Given the description of an element on the screen output the (x, y) to click on. 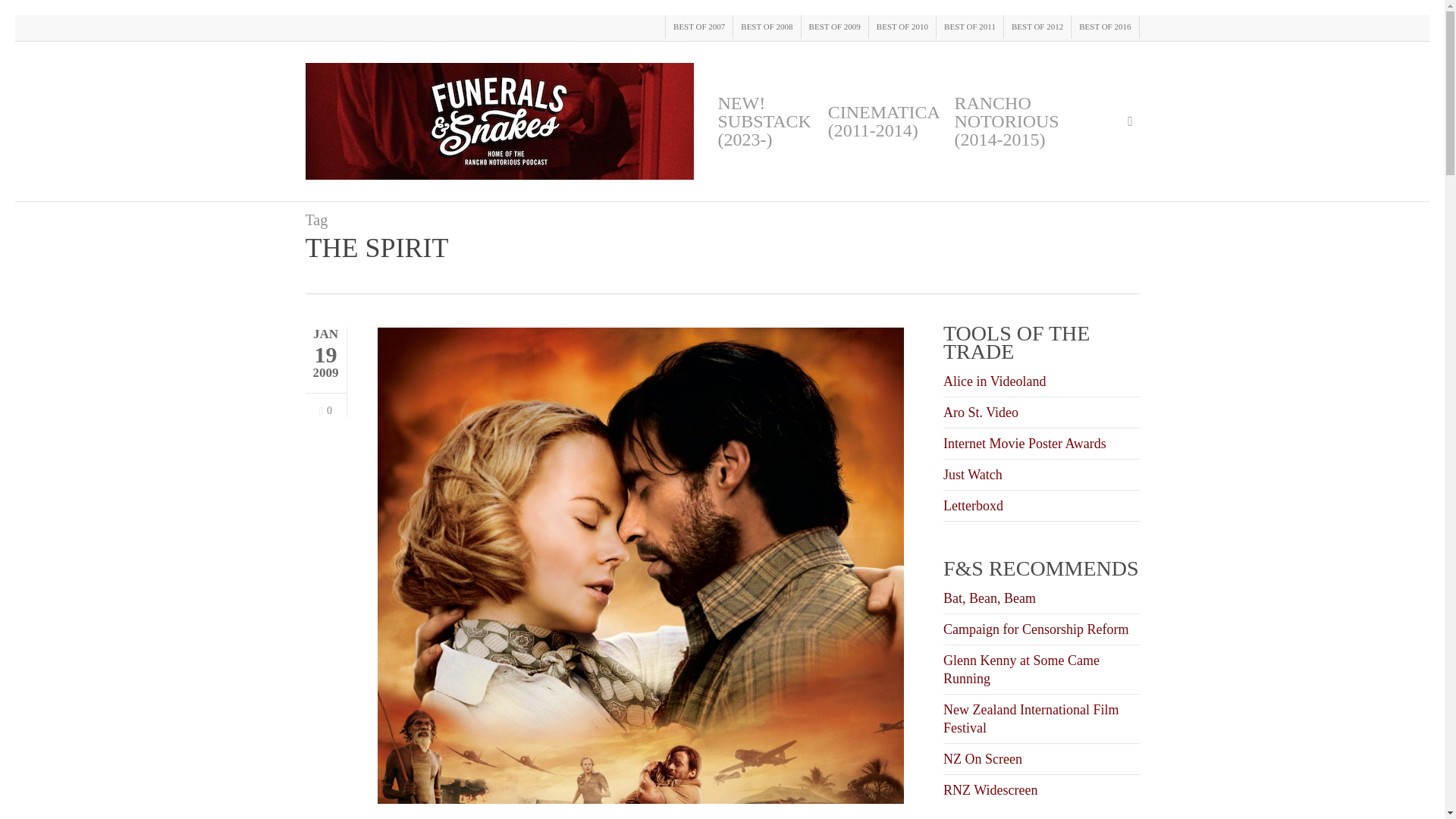
search (1129, 120)
Aro St. Video (980, 412)
0 (324, 410)
BEST OF 2016 (1104, 26)
Internet Movie Poster Awards (1024, 443)
BEST OF 2010 (901, 26)
BEST OF 2008 (765, 26)
BEST OF 2011 (969, 26)
BEST OF 2007 (698, 26)
Love this (324, 410)
